Given the description of an element on the screen output the (x, y) to click on. 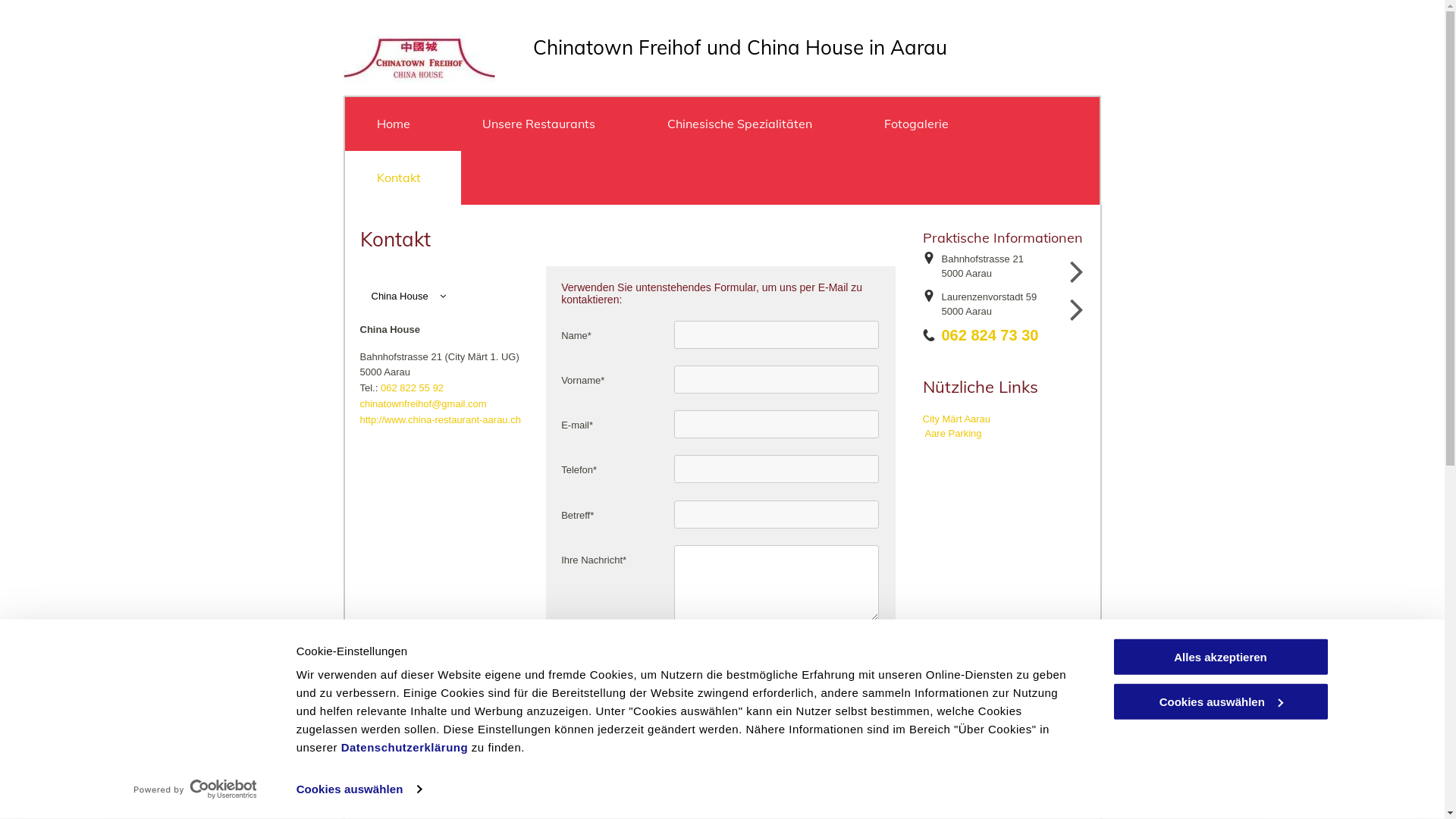
http://www.china-restaurant-aarau.ch Element type: text (439, 419)
062 824 73 30 Element type: text (989, 334)
Aare Parking Element type: text (952, 433)
China House Element type: text (443, 296)
chinatownfreihof@gmail.com Element type: text (422, 403)
Fotogalerie Element type: text (920, 123)
Senden Element type: text (598, 660)
Alles akzeptieren Element type: text (1219, 656)
Unsere Restaurants Element type: text (542, 123)
Chinatown Freihof und China House in Aarau Element type: text (739, 46)
Home Element type: text (396, 123)
Kontakt Element type: text (402, 177)
062 822 55 92 Element type: text (411, 387)
